Given the description of an element on the screen output the (x, y) to click on. 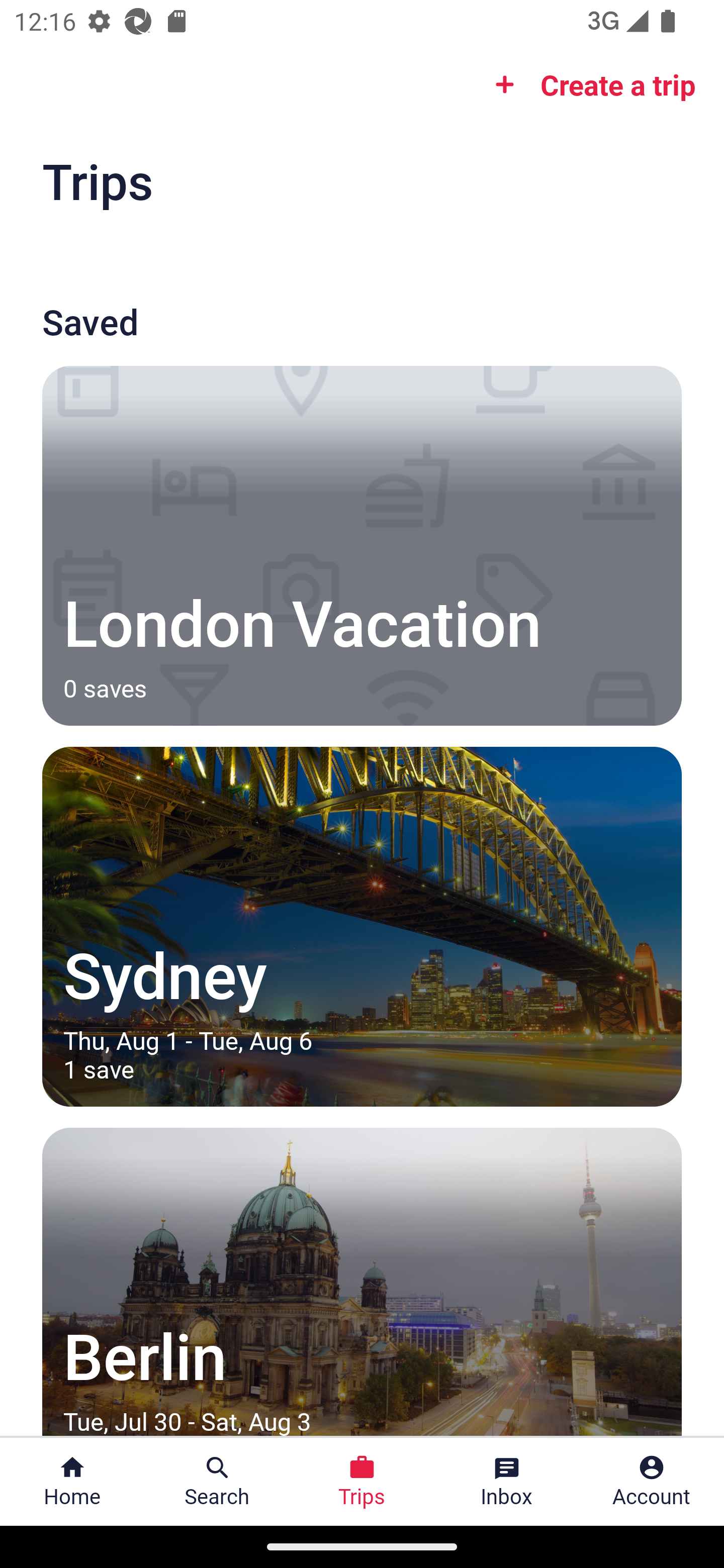
Create a trip Create a trip Button (589, 84)
Home Home Button (72, 1481)
Search Search Button (216, 1481)
Inbox Inbox Button (506, 1481)
Account Profile. Button (651, 1481)
